Given the description of an element on the screen output the (x, y) to click on. 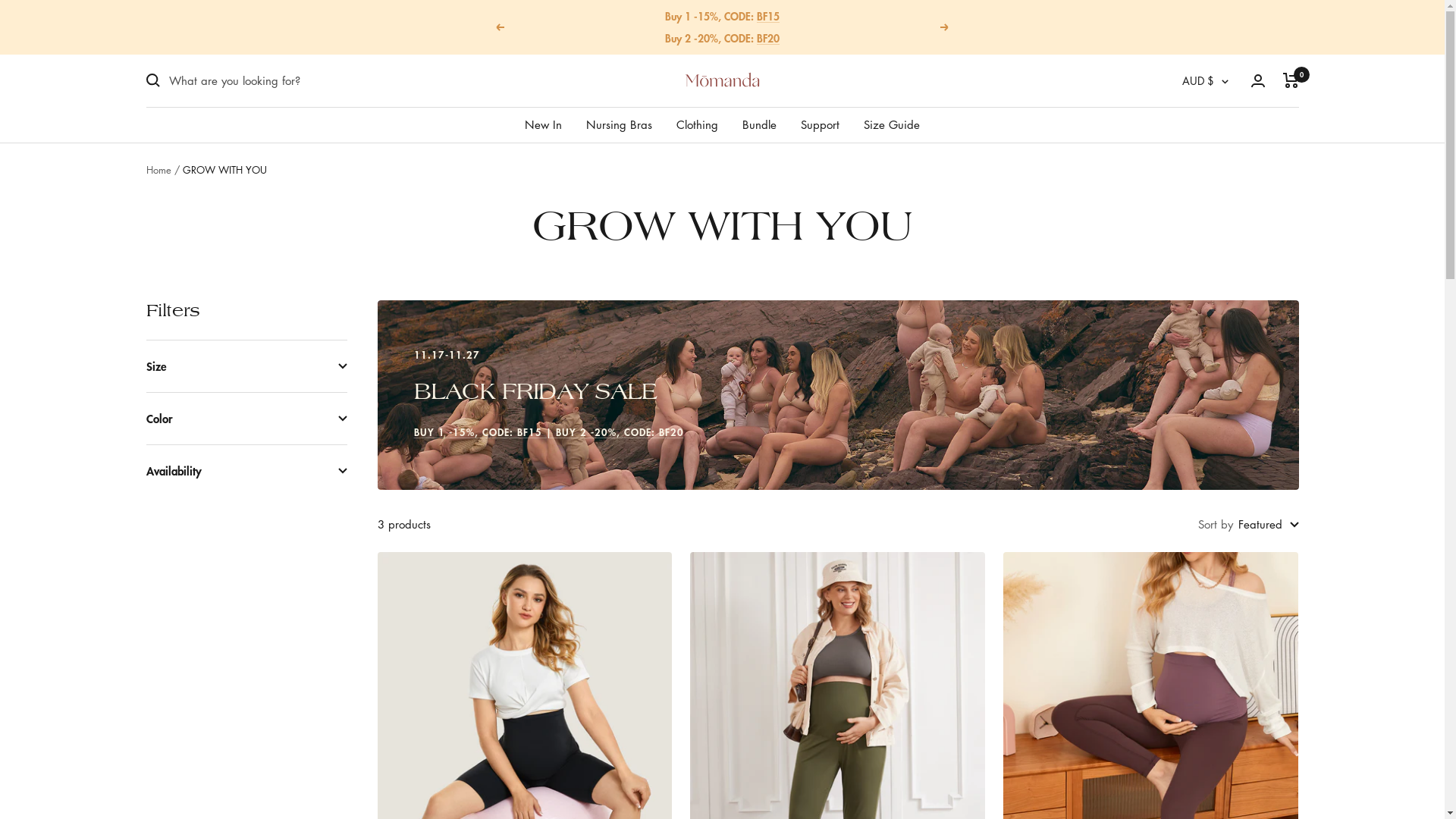
Previous Element type: text (499, 27)
Home Element type: text (157, 169)
BF15 Element type: text (767, 15)
USD Element type: text (1198, 207)
Size Guide Element type: text (891, 123)
Next Element type: text (944, 27)
BF20 Element type: text (767, 37)
Nursing Bras Element type: text (619, 123)
Bundle Element type: text (759, 123)
Clothing Element type: text (697, 123)
Momanda.int Element type: text (722, 80)
Featured Element type: text (1267, 523)
New In Element type: text (542, 123)
Availability Element type: text (245, 469)
AUD Element type: text (1198, 132)
Color Element type: text (245, 418)
0 Element type: text (1291, 79)
Support Element type: text (819, 123)
Size Element type: text (245, 365)
CAD Element type: text (1198, 157)
AUD $ Element type: text (1204, 80)
GBP Element type: text (1198, 182)
